Given the description of an element on the screen output the (x, y) to click on. 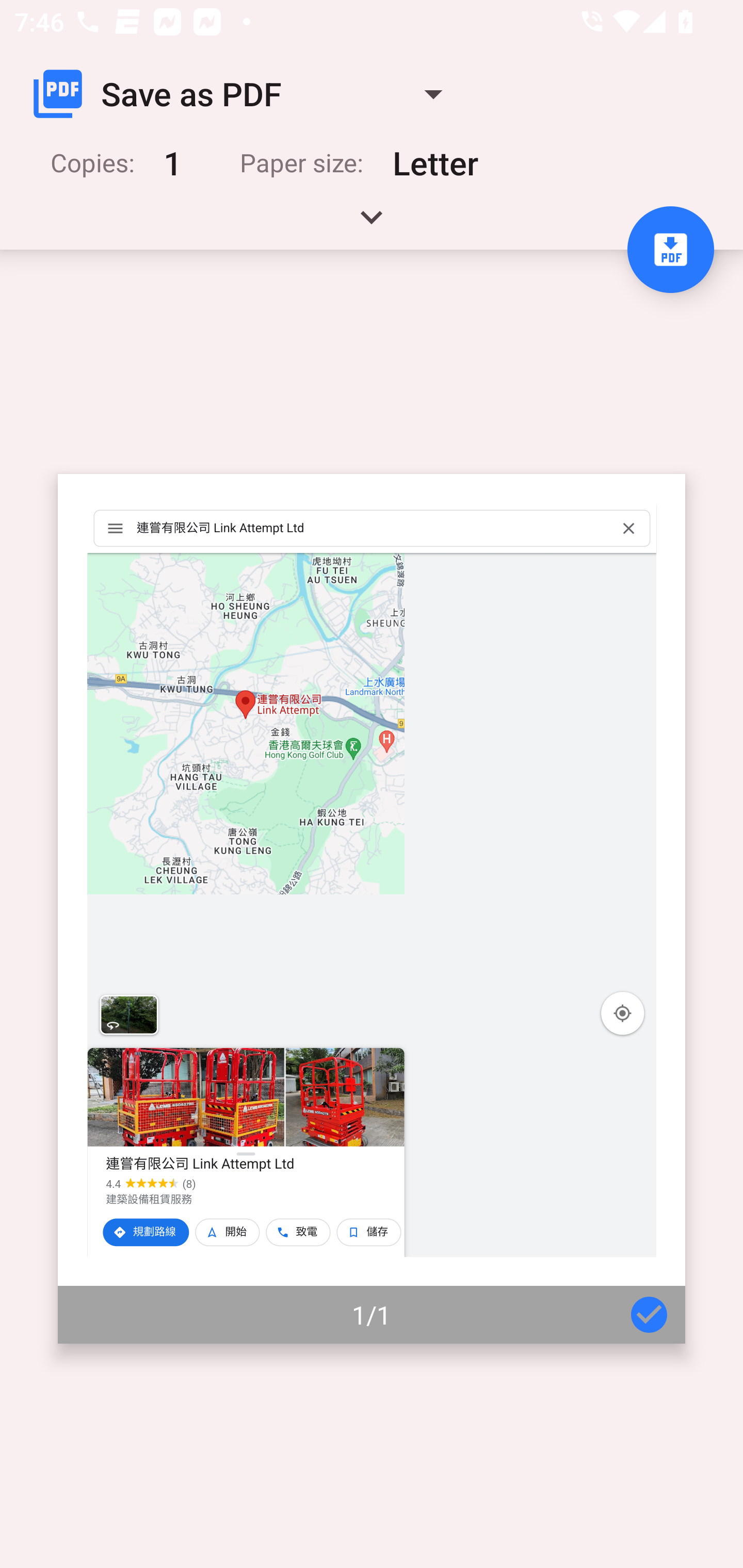
Save as PDF (245, 93)
Expand handle (371, 224)
Save to PDF (670, 249)
Page 1 of 1 1/1 (371, 908)
